Given the description of an element on the screen output the (x, y) to click on. 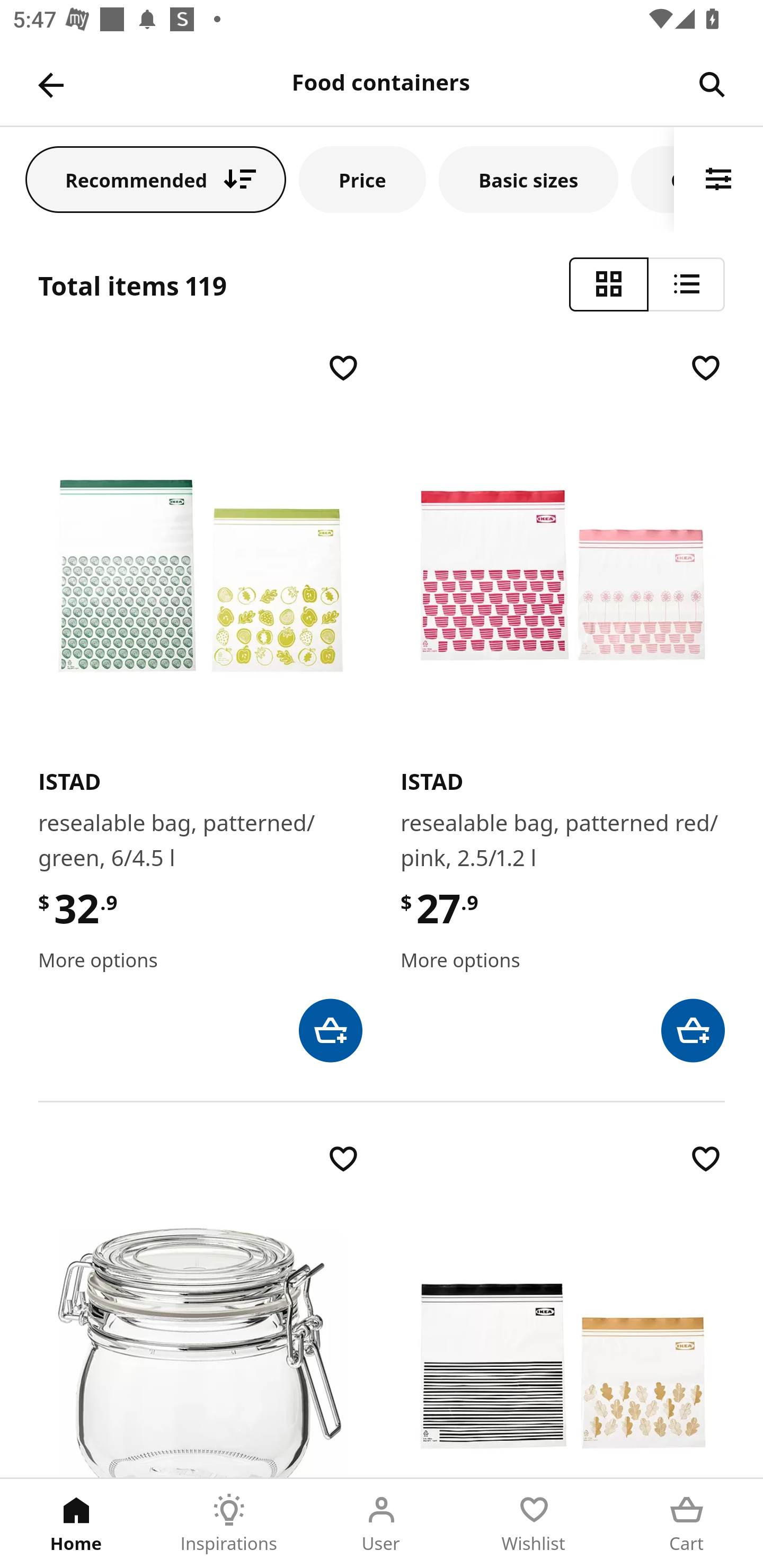
Recommended (155, 179)
Price (362, 179)
Basic sizes (528, 179)
Home
Tab 1 of 5 (76, 1522)
Inspirations
Tab 2 of 5 (228, 1522)
User
Tab 3 of 5 (381, 1522)
Wishlist
Tab 4 of 5 (533, 1522)
Cart
Tab 5 of 5 (686, 1522)
